Given the description of an element on the screen output the (x, y) to click on. 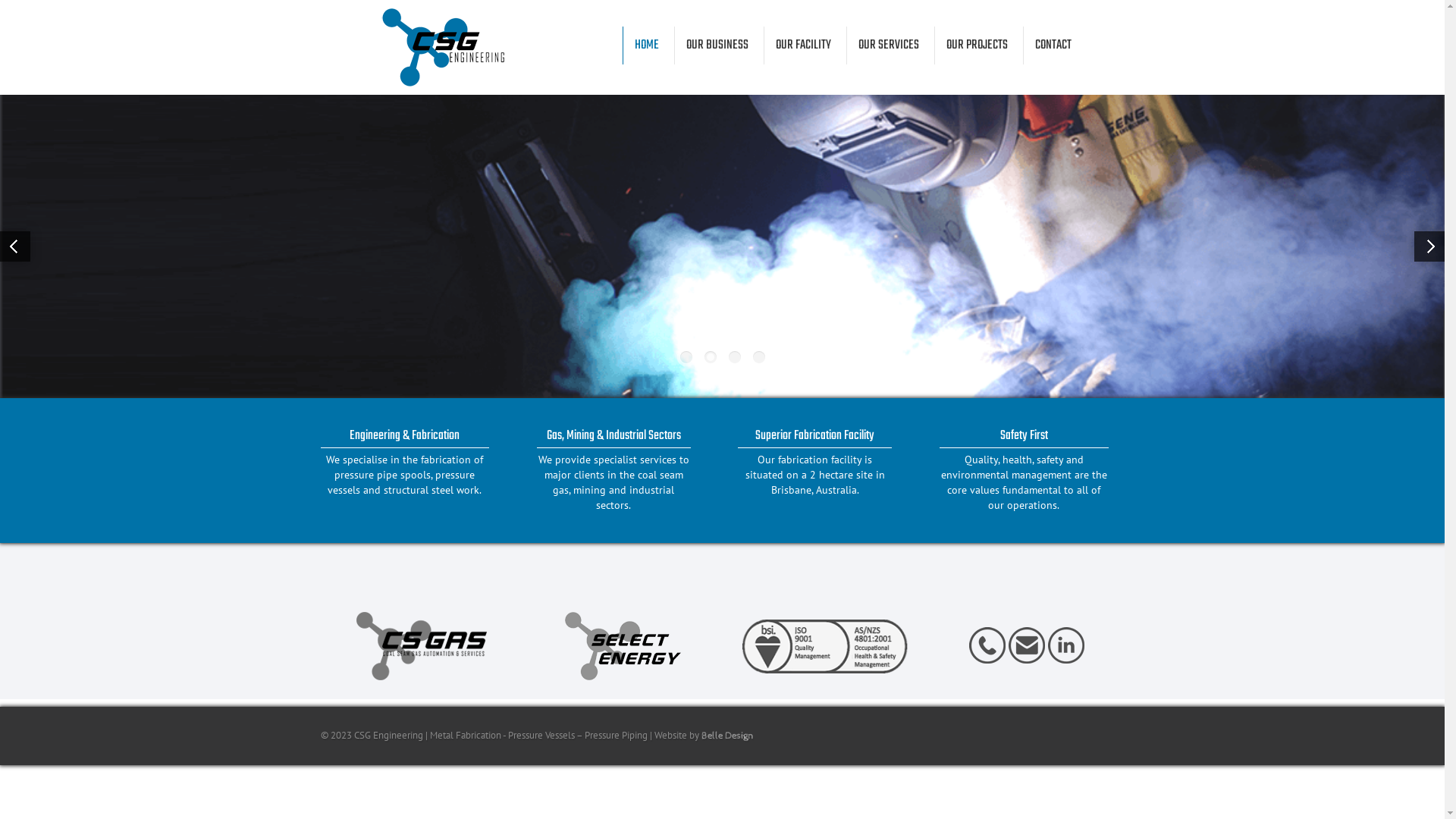
1 Element type: text (685, 357)
OUR FACILITY Element type: text (802, 45)
CONTACT Element type: text (1052, 45)
OUR SERVICES Element type: text (888, 45)
3 Element type: text (734, 357)
4 Element type: text (758, 357)
HOME Element type: text (645, 45)
OUR BUSINESS Element type: text (716, 45)
OUR PROJECTS Element type: text (976, 45)
Belle Design Element type: text (726, 734)
Next Element type: text (1429, 246)
CSG Engineering Element type: text (441, 30)
2 Element type: text (709, 357)
Previous Element type: text (15, 246)
